Given the description of an element on the screen output the (x, y) to click on. 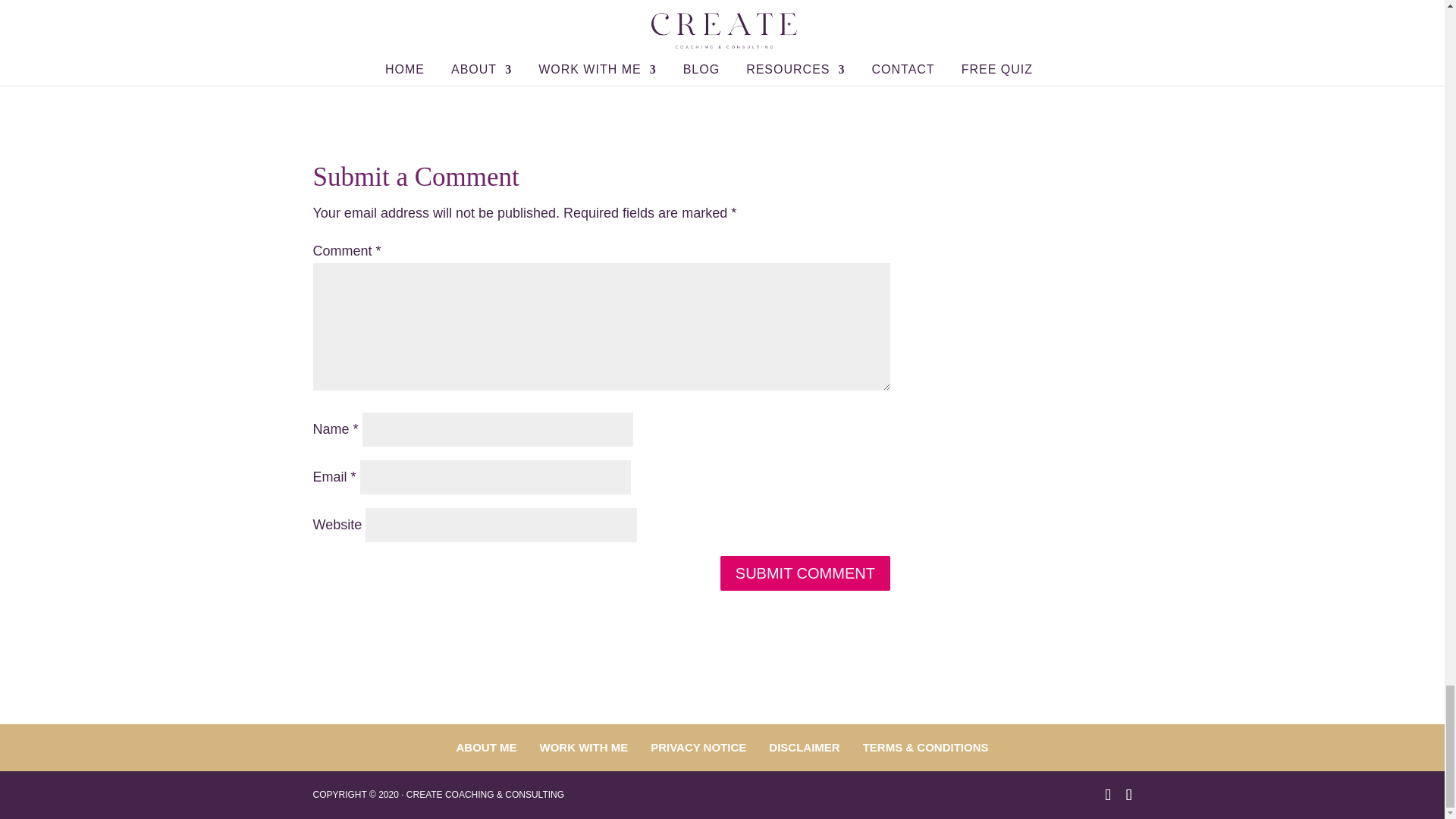
Submit Comment (804, 573)
Submit Comment (804, 573)
BOOK A CONSULT (600, 15)
